Given the description of an element on the screen output the (x, y) to click on. 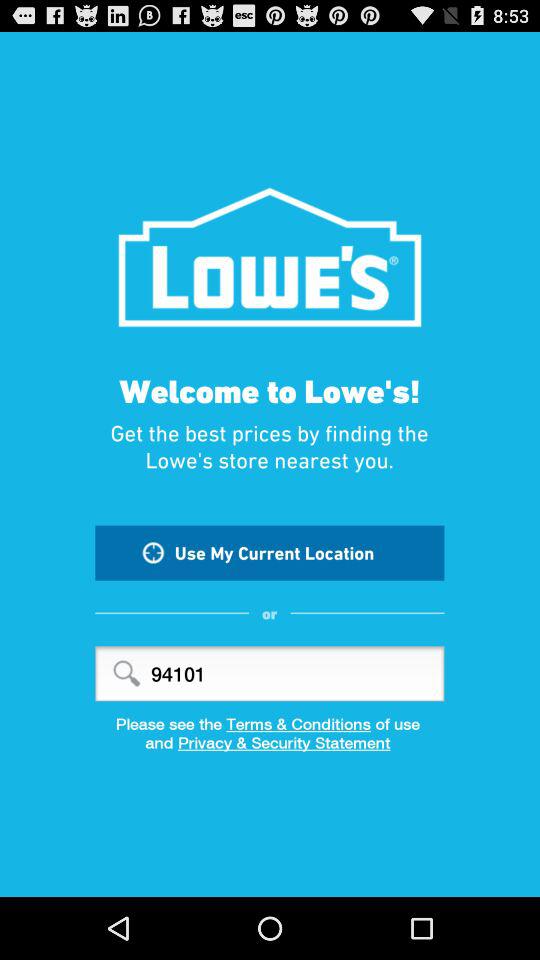
tap please see the item (270, 723)
